Given the description of an element on the screen output the (x, y) to click on. 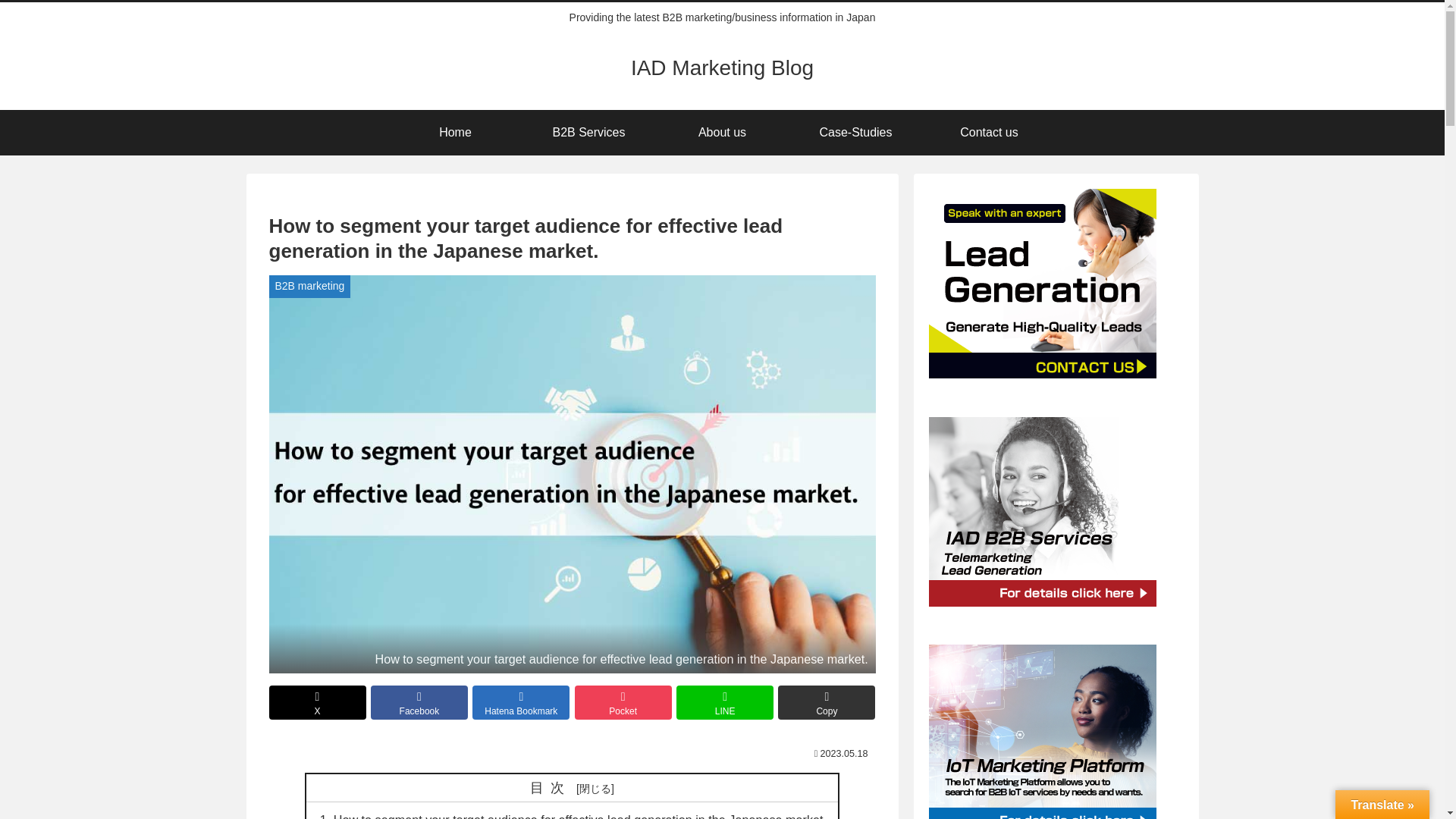
Case-Studies (855, 132)
About us (722, 132)
Copy the title and URL (826, 702)
Hatena Bookmark (520, 702)
Bookmark on Hatebu (520, 702)
Facebook (419, 702)
Share on LINE (725, 702)
IAD Marketing Blog (722, 70)
LINE (725, 702)
Share on Facebook (419, 702)
Share on X (317, 702)
B2B Services (588, 132)
X (317, 702)
Contact us (988, 132)
